Given the description of an element on the screen output the (x, y) to click on. 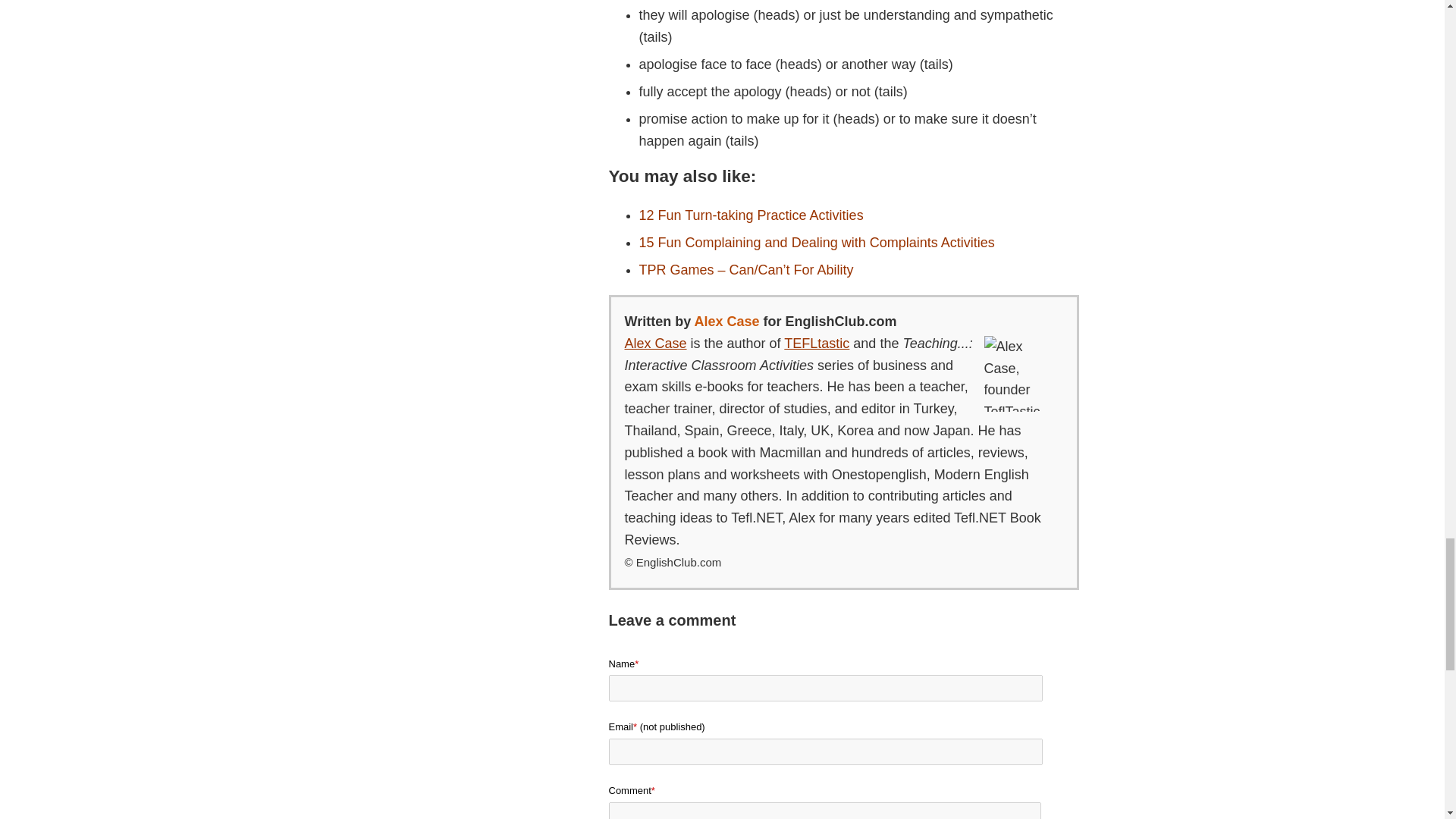
Alex Case (655, 343)
